Given the description of an element on the screen output the (x, y) to click on. 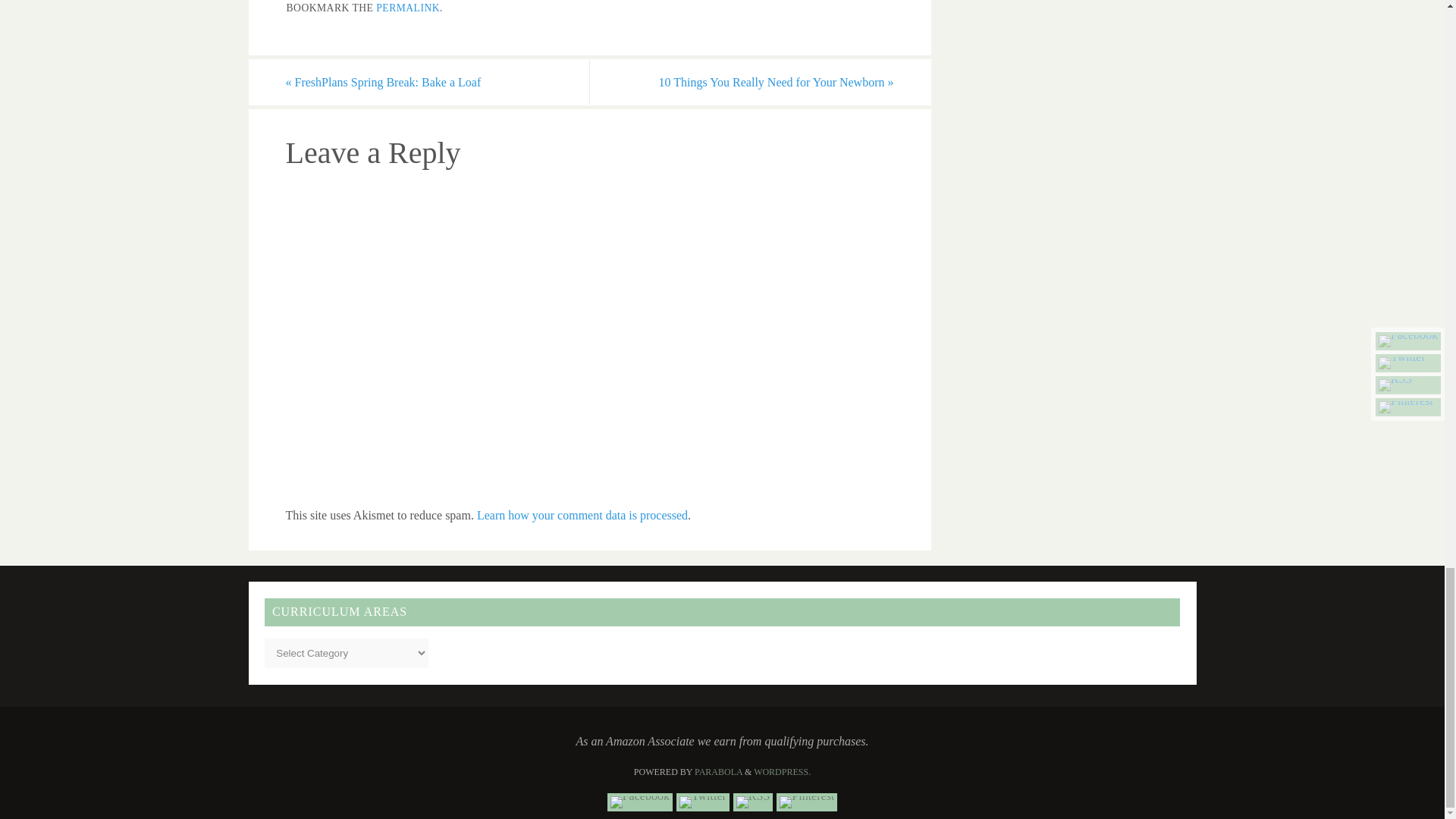
Permalink to Fresh Easter Baskets (407, 7)
Parabola Theme by Cryout Creations (718, 771)
PERMALINK (407, 7)
